Given the description of an element on the screen output the (x, y) to click on. 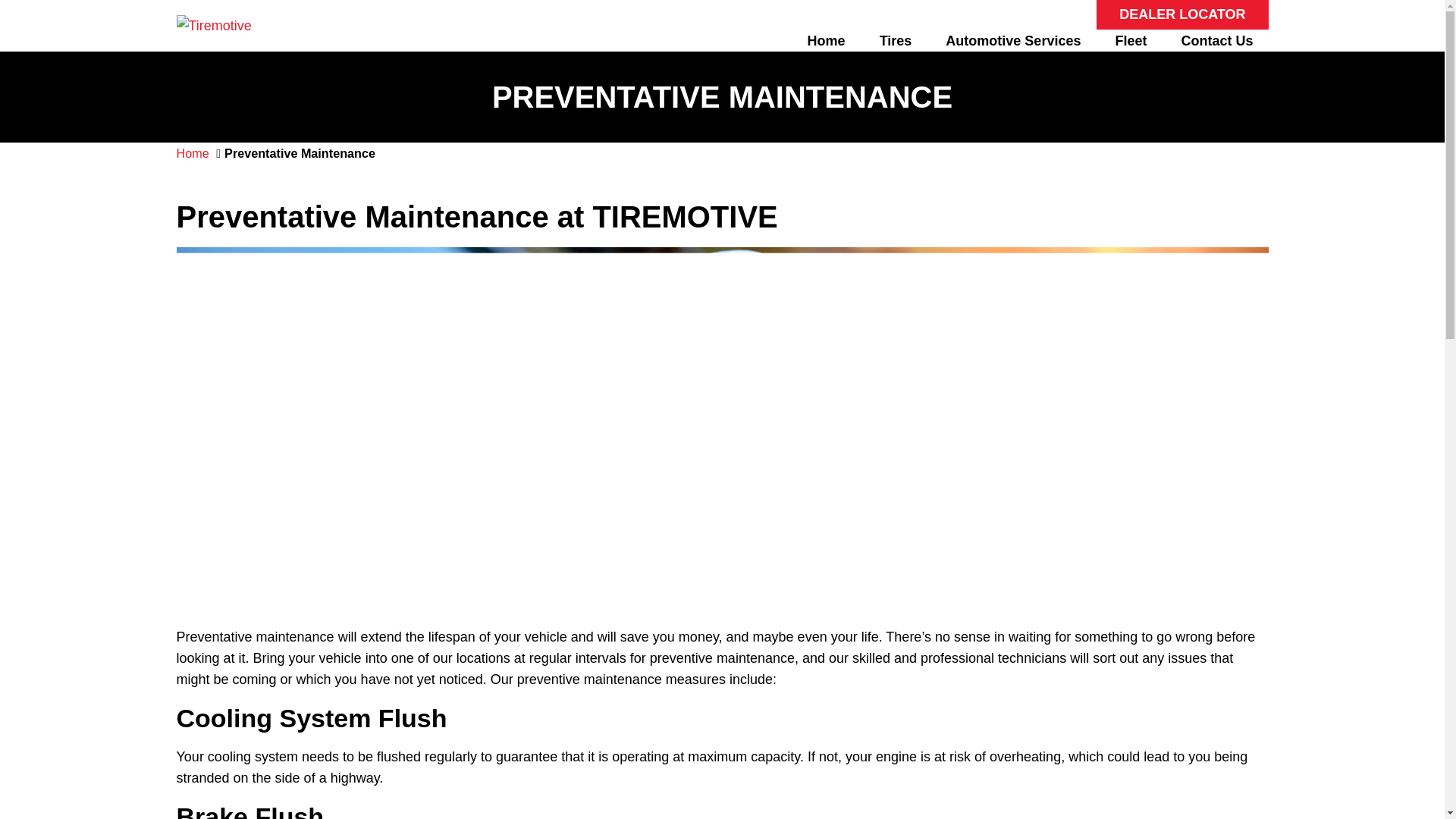
Automotive Services (1013, 40)
Go to Tiremotive. (192, 152)
Tires (895, 40)
Home (826, 40)
Tiremotive (213, 25)
Fleet (1130, 40)
DEALER LOCATOR (1182, 14)
